Given the description of an element on the screen output the (x, y) to click on. 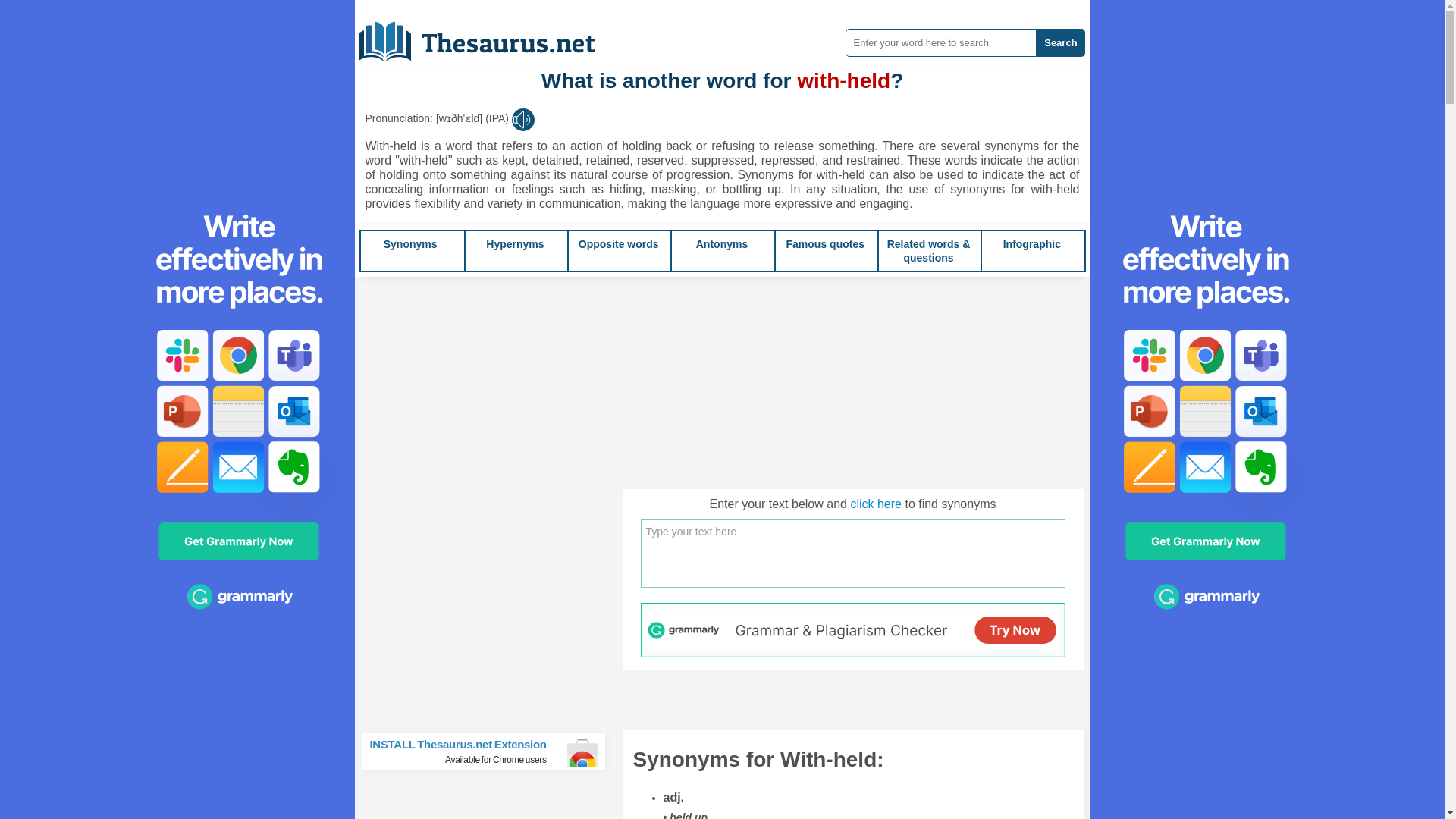
Synonyms (411, 244)
Antonyms (721, 244)
Synonyms (411, 244)
Thesaurus.net (487, 35)
Antonyms (721, 244)
Search (1060, 42)
Infographic (1032, 244)
Opposite words (618, 244)
Hypernyms (514, 244)
Famous quotes (825, 244)
Opposite words (489, 751)
Hypernyms (618, 244)
Famous quotes (514, 244)
Infographic (825, 244)
